Given the description of an element on the screen output the (x, y) to click on. 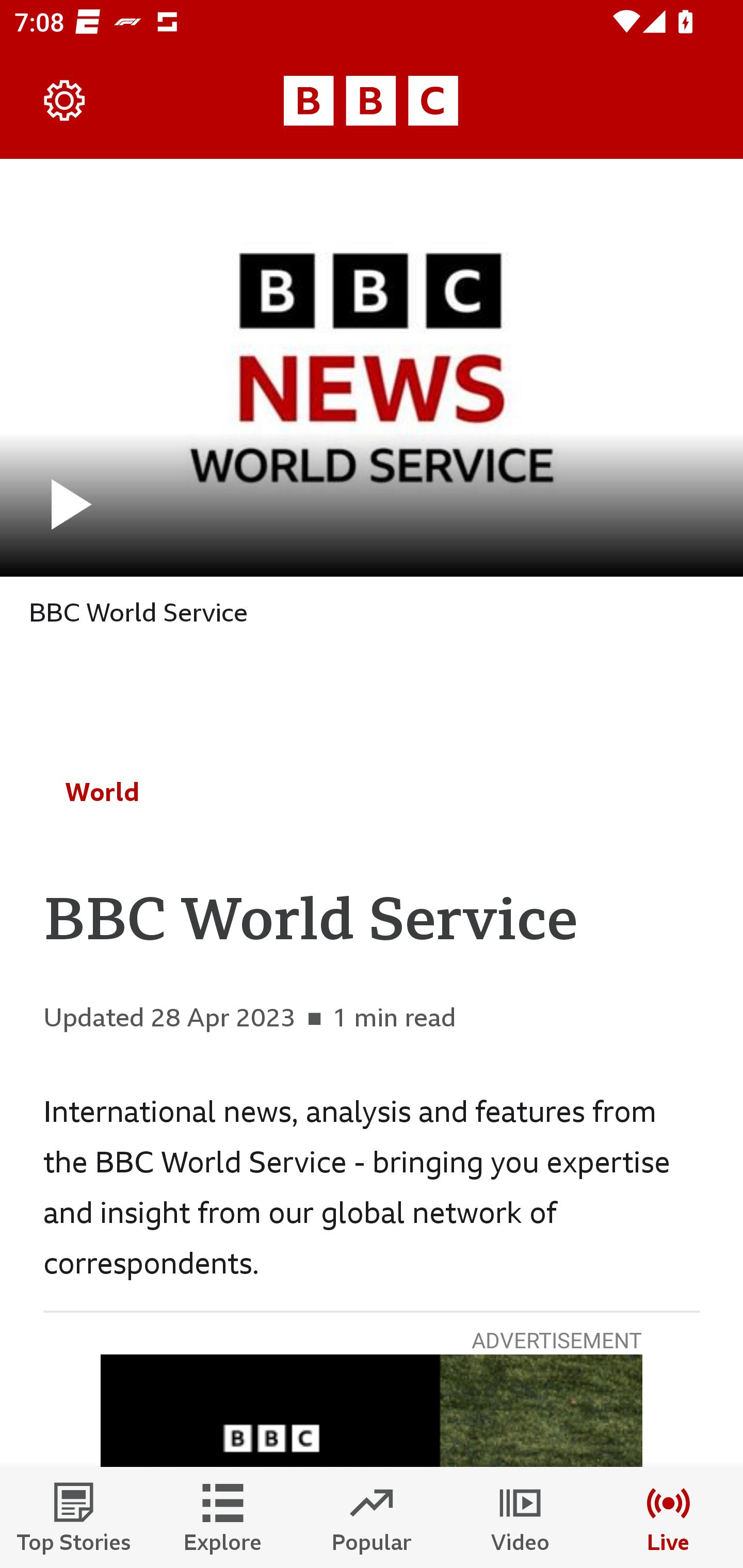
Settings (64, 100)
play fullscreen (371, 367)
World (102, 791)
Top Stories (74, 1517)
Explore (222, 1517)
Popular (371, 1517)
Video (519, 1517)
